Given the description of an element on the screen output the (x, y) to click on. 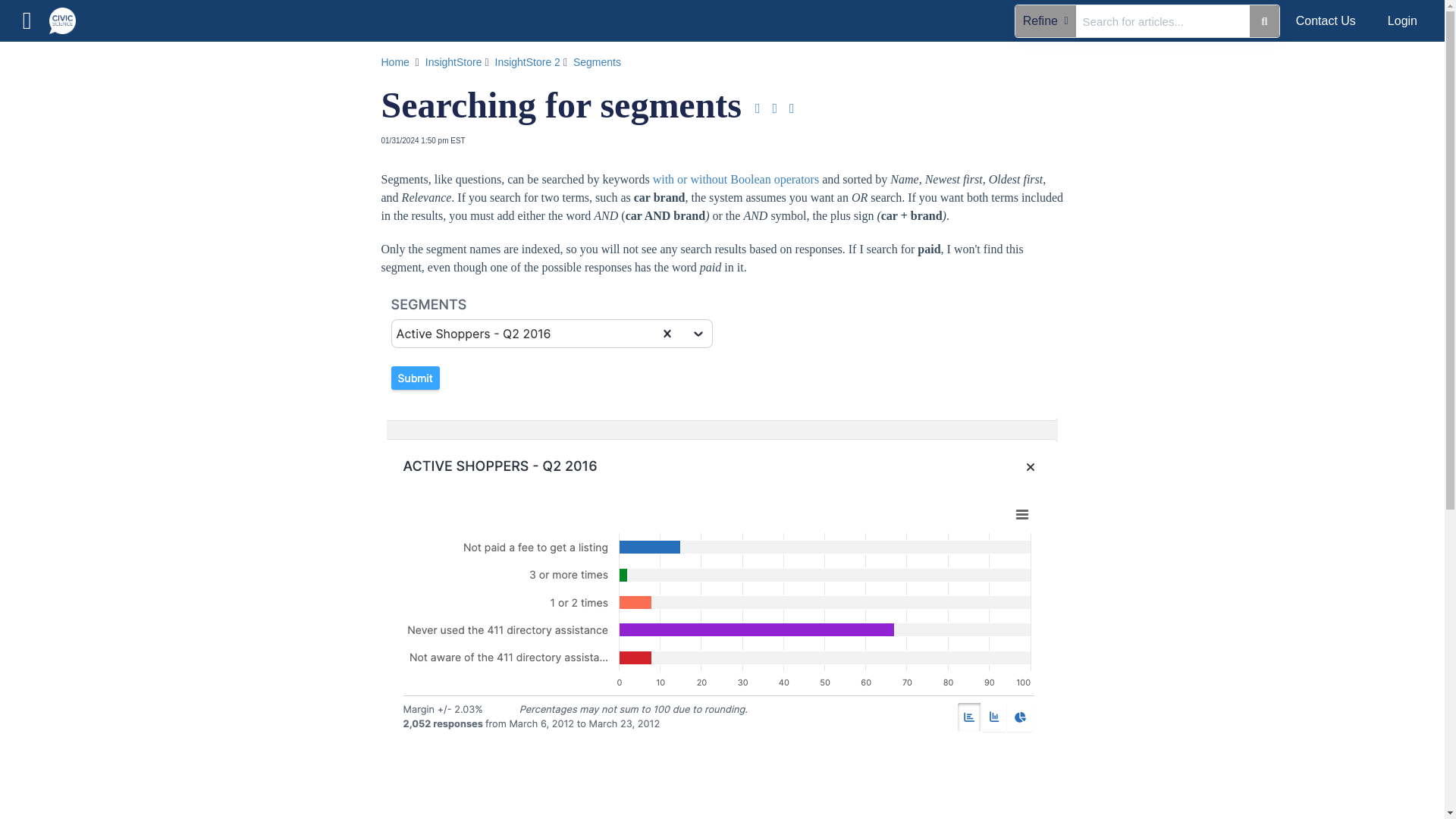
Contact Us (1325, 20)
InsightStore (454, 62)
Refine (1044, 20)
Glossary (127, 136)
Search (147, 61)
CivicScience Knowledge Base (68, 13)
Search (241, 61)
Download PDF (758, 108)
Search (1263, 20)
Search (1163, 20)
InsightStore 2 (528, 62)
Searching for Questions (735, 178)
Refine (35, 61)
Segments (598, 62)
Login (1401, 20)
